Given the description of an element on the screen output the (x, y) to click on. 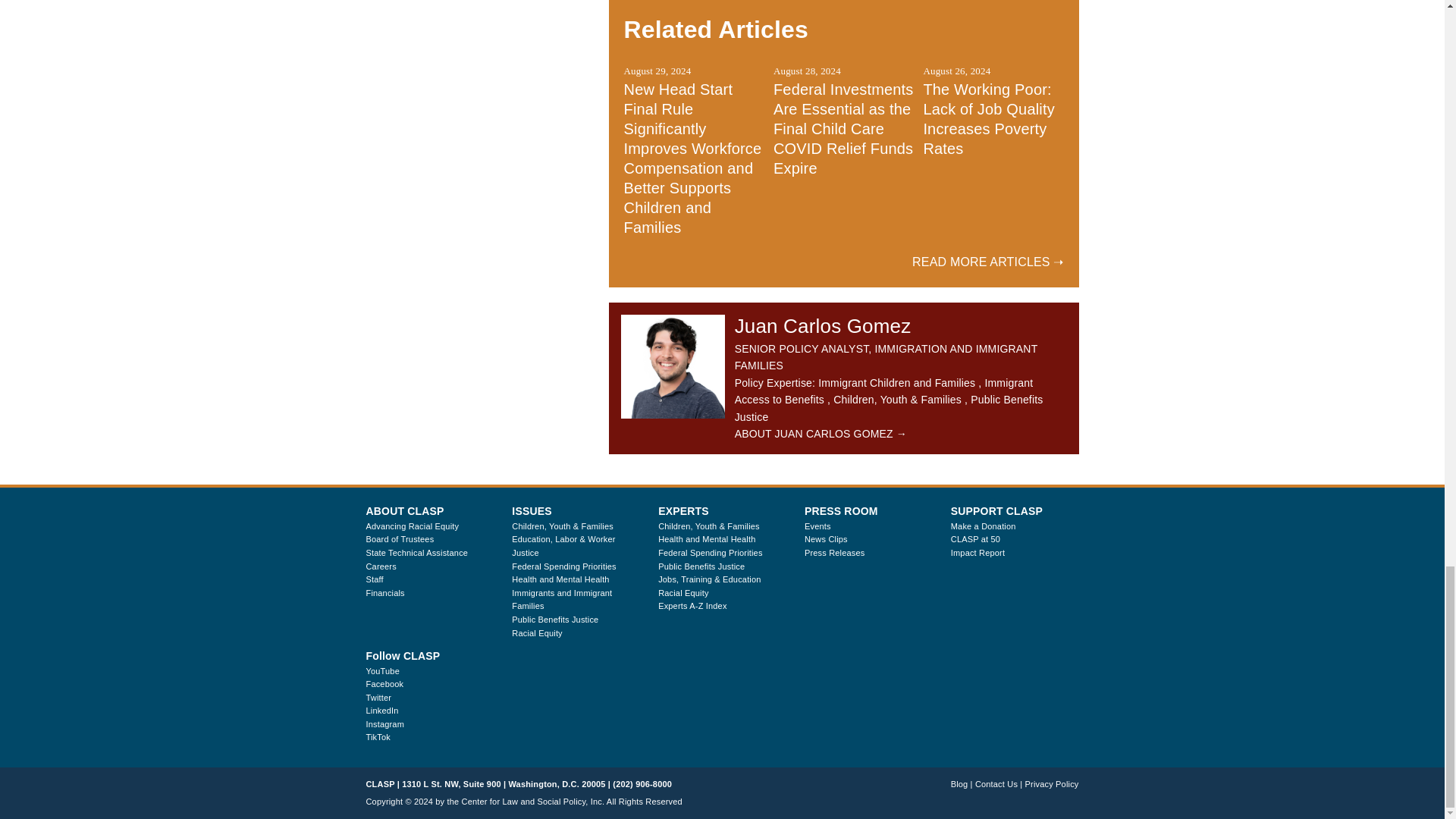
Contact Us (996, 783)
Blog (959, 783)
Privacy Policy (1051, 783)
Juan Carlos Gomez (673, 366)
